Given the description of an element on the screen output the (x, y) to click on. 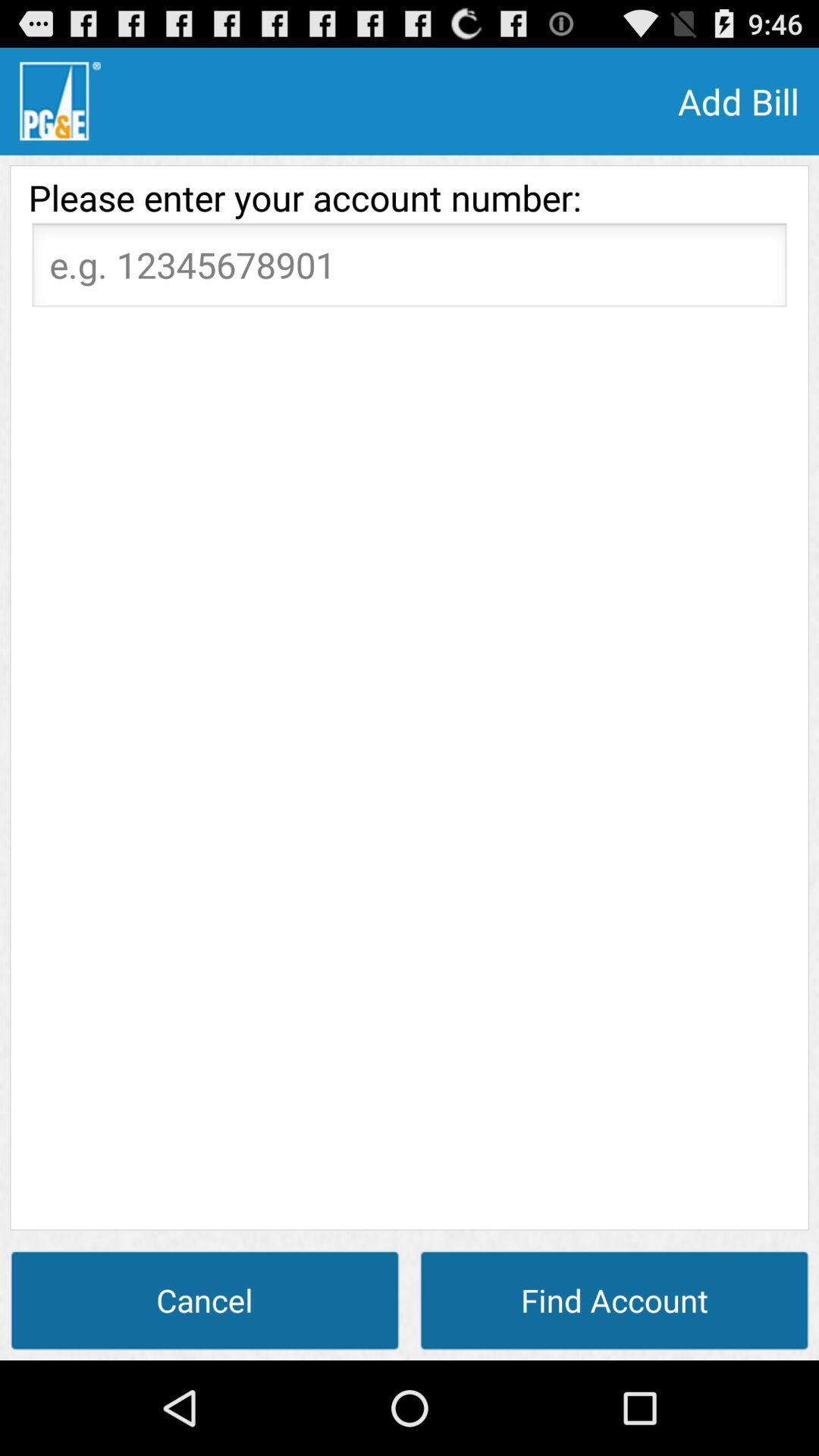
turn off button to the right of cancel item (613, 1300)
